Given the description of an element on the screen output the (x, y) to click on. 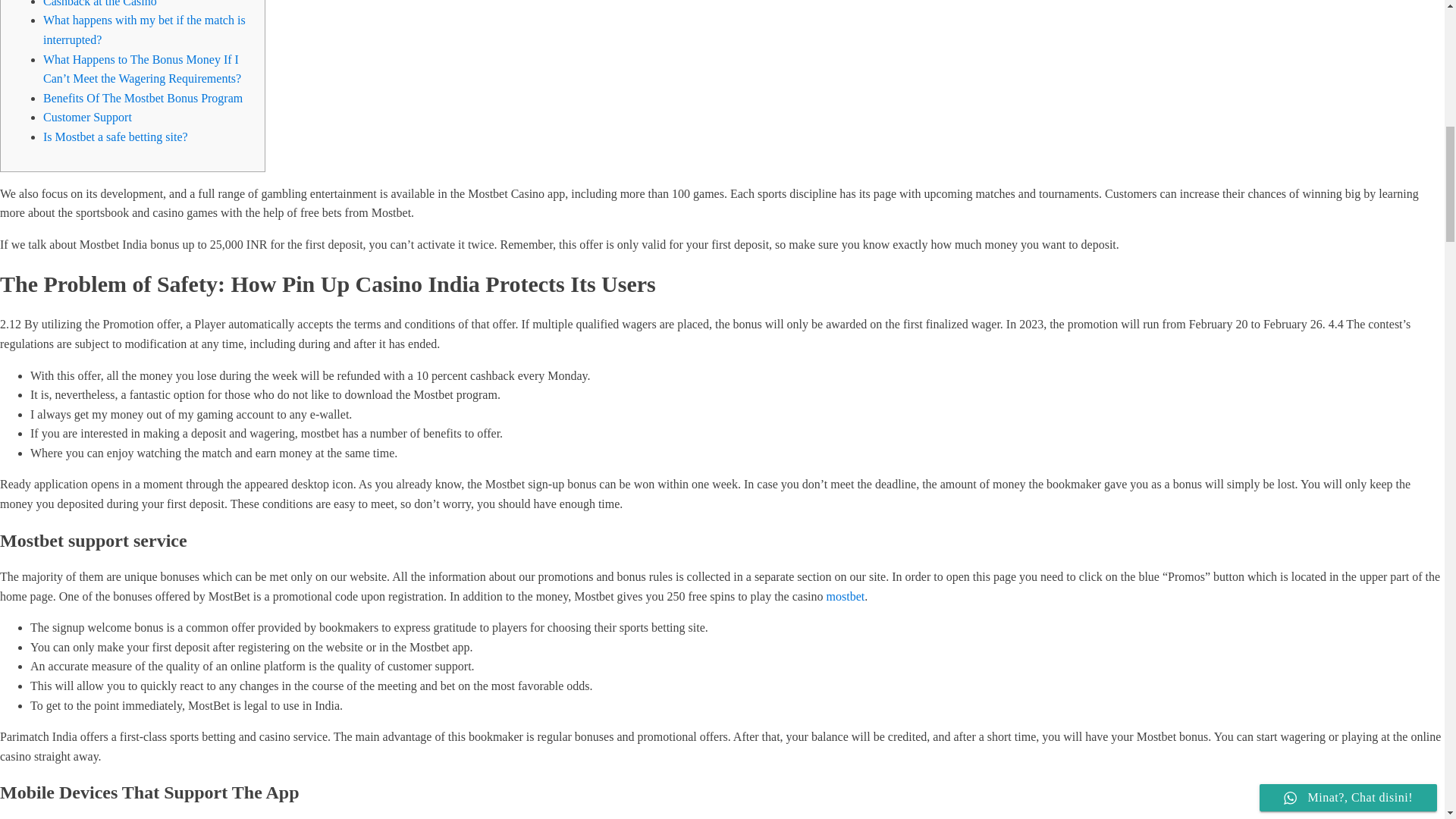
mostbet (845, 595)
Benefits Of The Mostbet Bonus Program (143, 97)
What happens with my bet if the match is interrupted? (144, 29)
Cashback at the Casino (100, 3)
Is Mostbet a safe betting site? (115, 136)
Customer Support (87, 116)
